Given the description of an element on the screen output the (x, y) to click on. 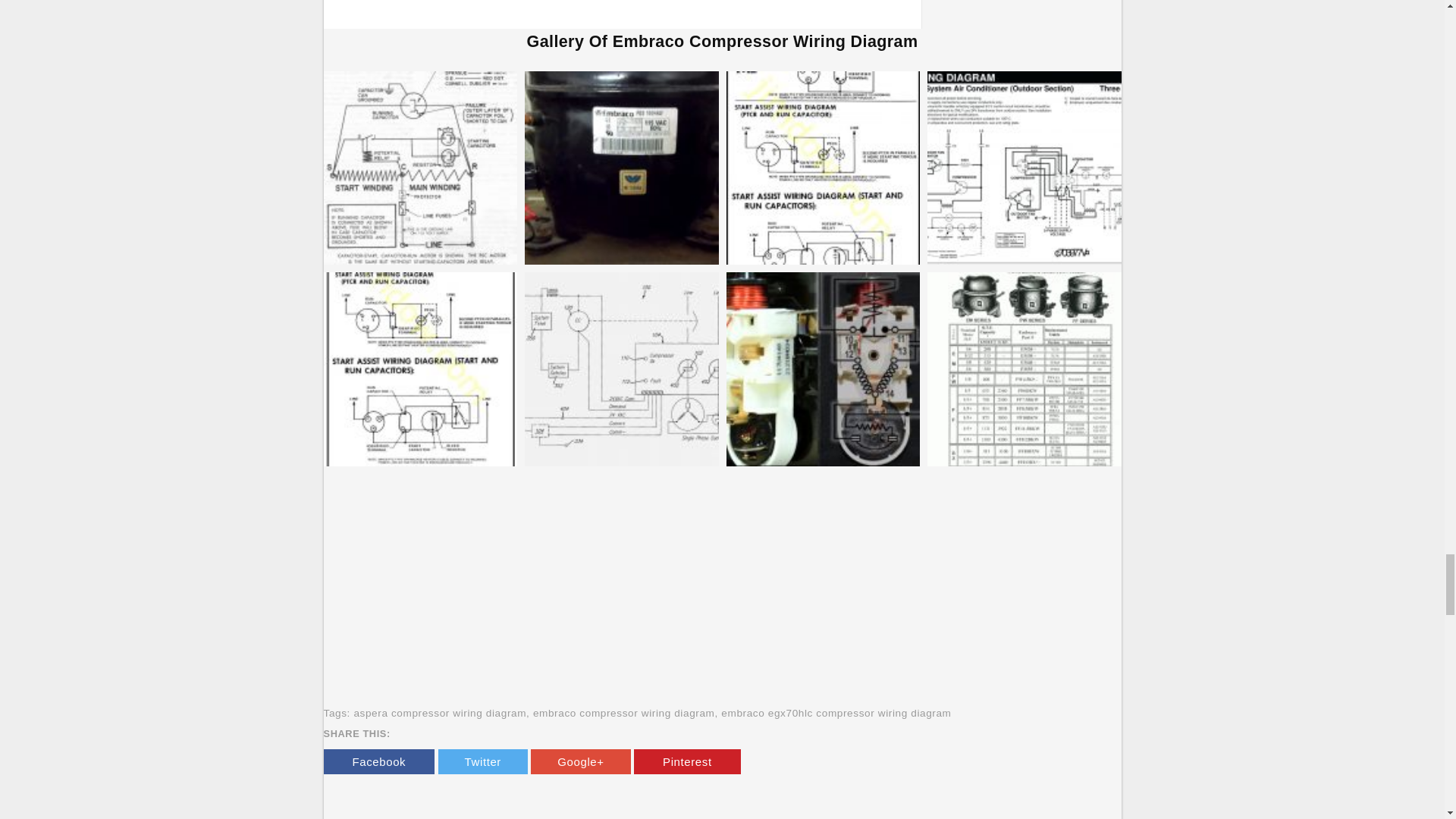
Pinterest (687, 761)
embraco egx70hlc compressor wiring diagram (835, 713)
Twitter (482, 761)
Facebook (378, 761)
aspera compressor wiring diagram (439, 713)
embraco compressor wiring diagram (623, 713)
